Given the description of an element on the screen output the (x, y) to click on. 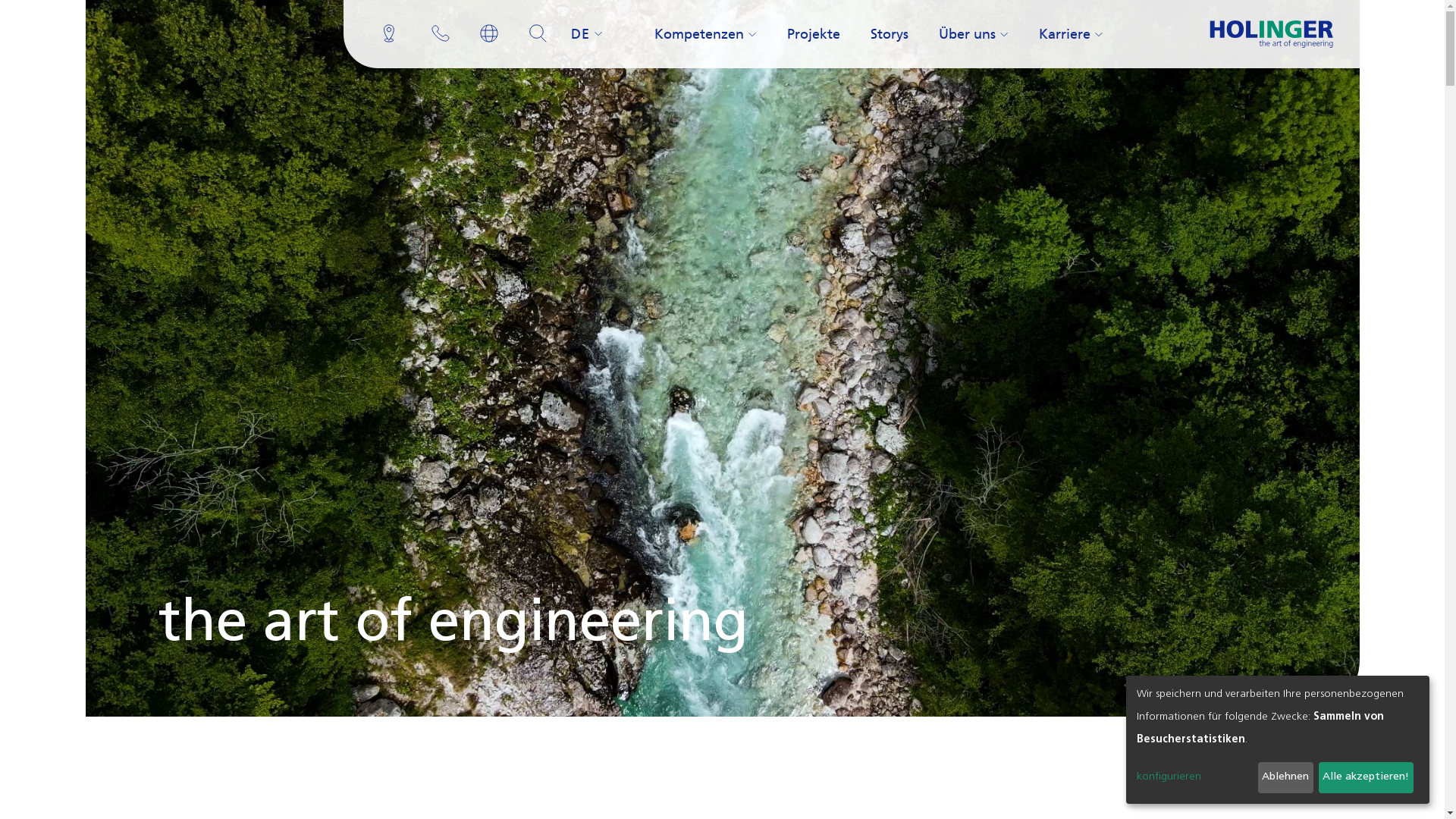
Projekte Element type: text (813, 33)
Kompetenzen Element type: text (705, 33)
DE Element type: text (586, 33)
konfigurieren Element type: text (1194, 776)
Karriere Element type: text (1070, 33)
Ablehnen Element type: text (1285, 777)
Storys Element type: text (889, 33)
Alle akzeptieren! Element type: text (1365, 777)
